Given the description of an element on the screen output the (x, y) to click on. 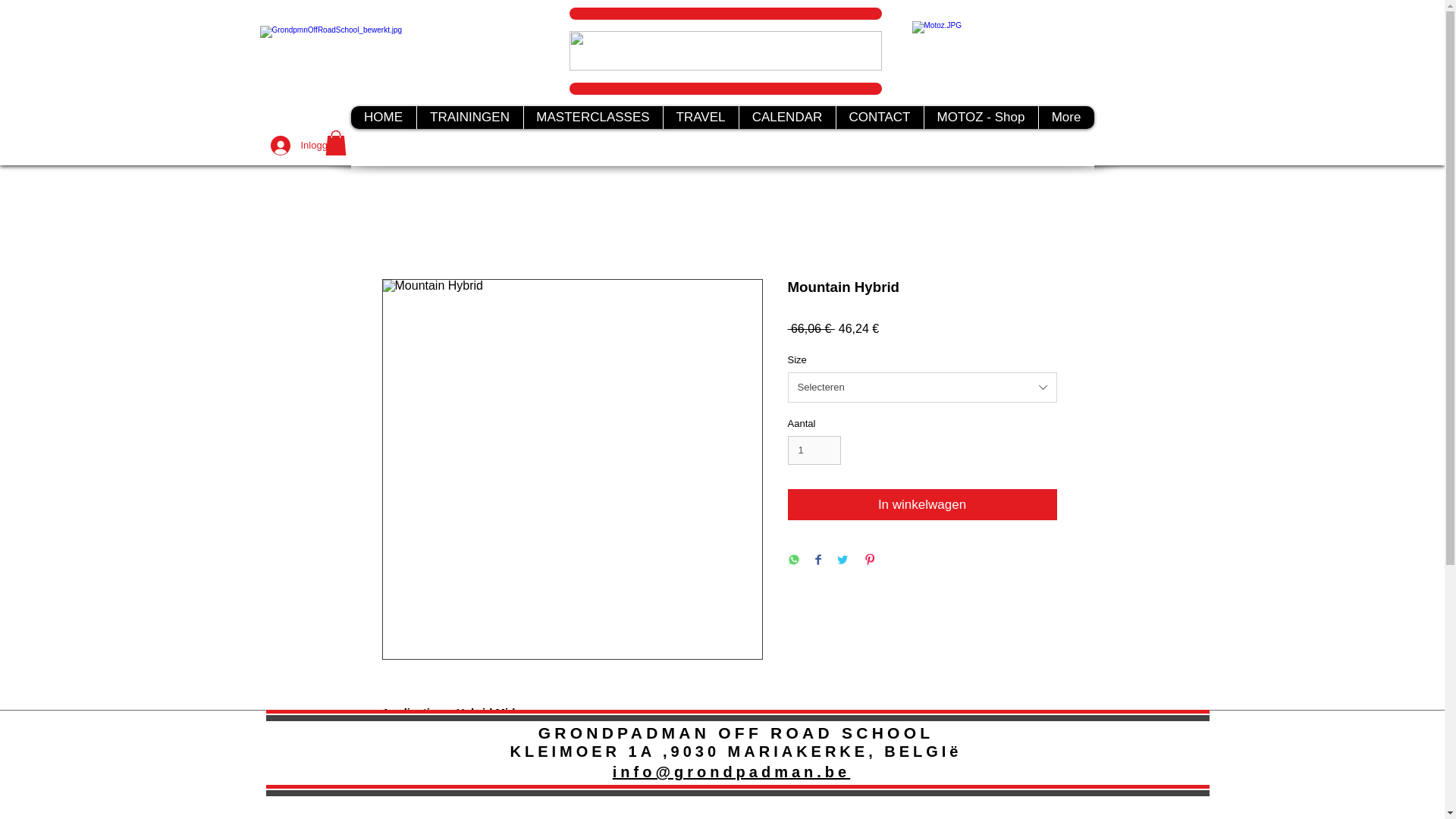
TRAVEL (700, 117)
MOTOZ - Shop (980, 117)
In winkelwagen (922, 504)
Inloggen (290, 145)
MASTERCLASSES (592, 117)
HOME (382, 117)
CALENDAR (786, 117)
1 (814, 450)
CONTACT (879, 117)
TRAININGEN (468, 117)
Selecteren (922, 387)
